Given the description of an element on the screen output the (x, y) to click on. 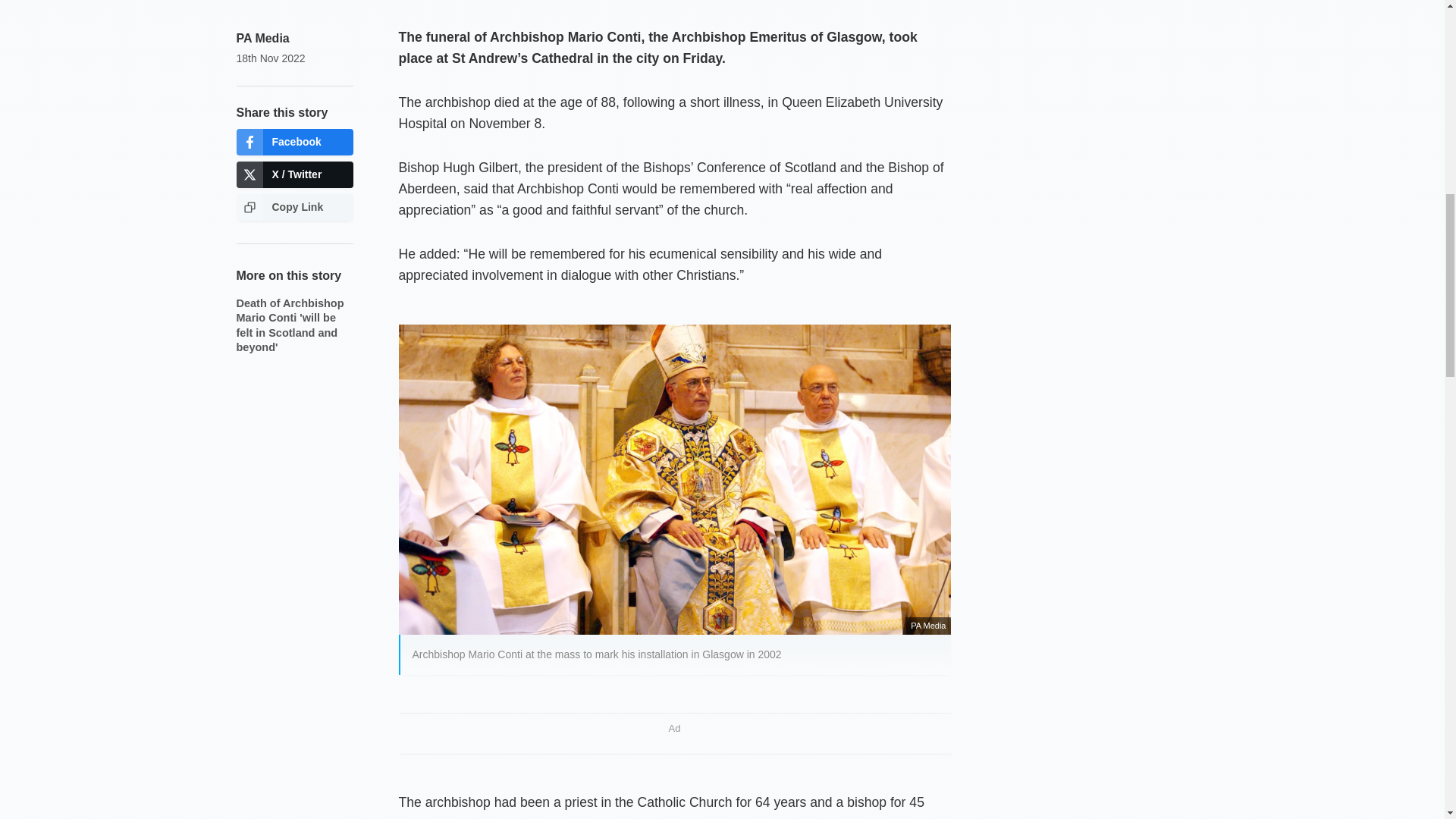
Facebook (294, 141)
